Given the description of an element on the screen output the (x, y) to click on. 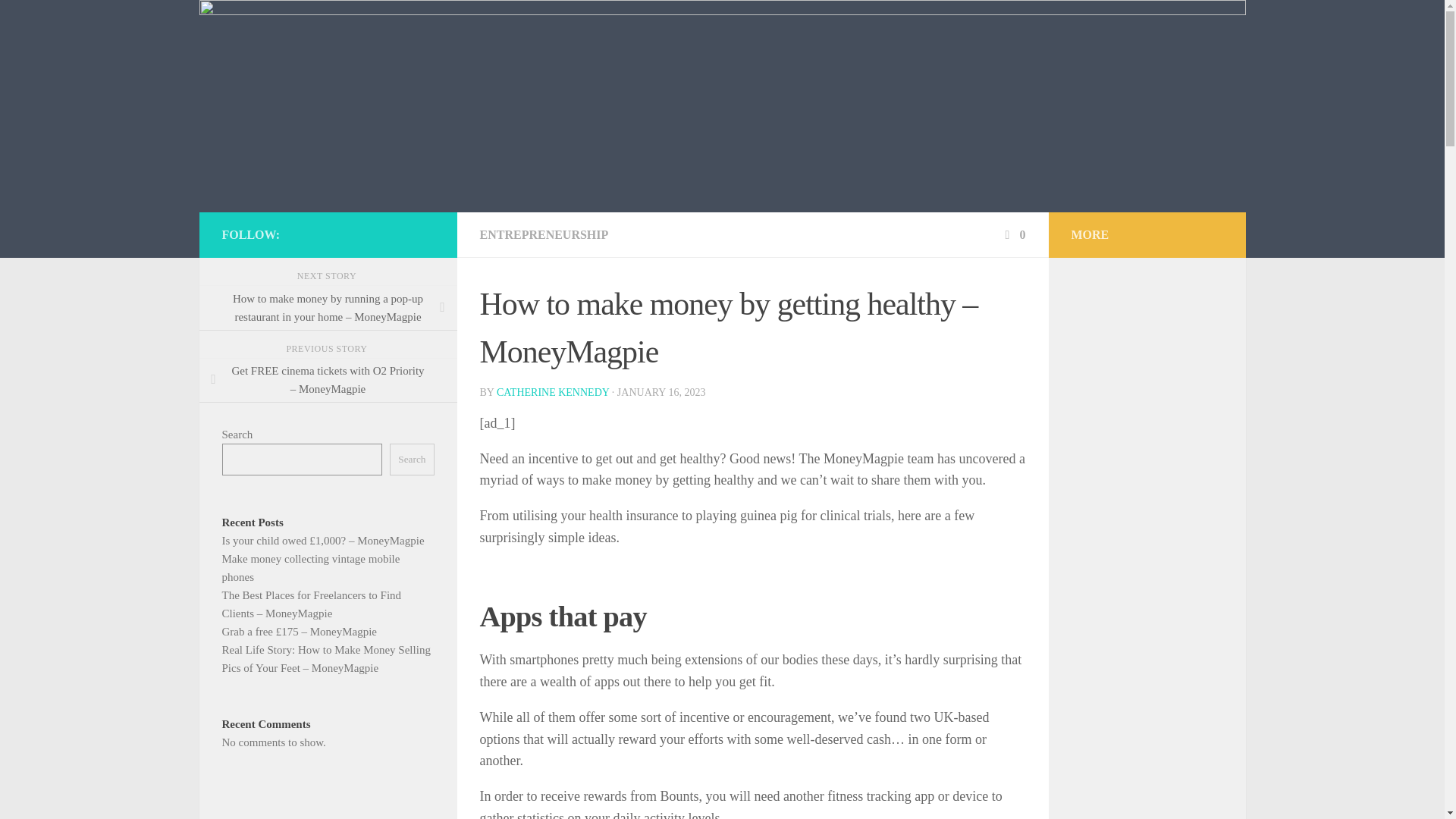
Search (411, 459)
ENTREPRENEURSHIP (543, 234)
0 (1013, 234)
Posts by Catherine Kennedy (552, 392)
CATHERINE KENNEDY (552, 392)
Skip to content (59, 20)
Make money collecting vintage mobile phones (309, 567)
